Given the description of an element on the screen output the (x, y) to click on. 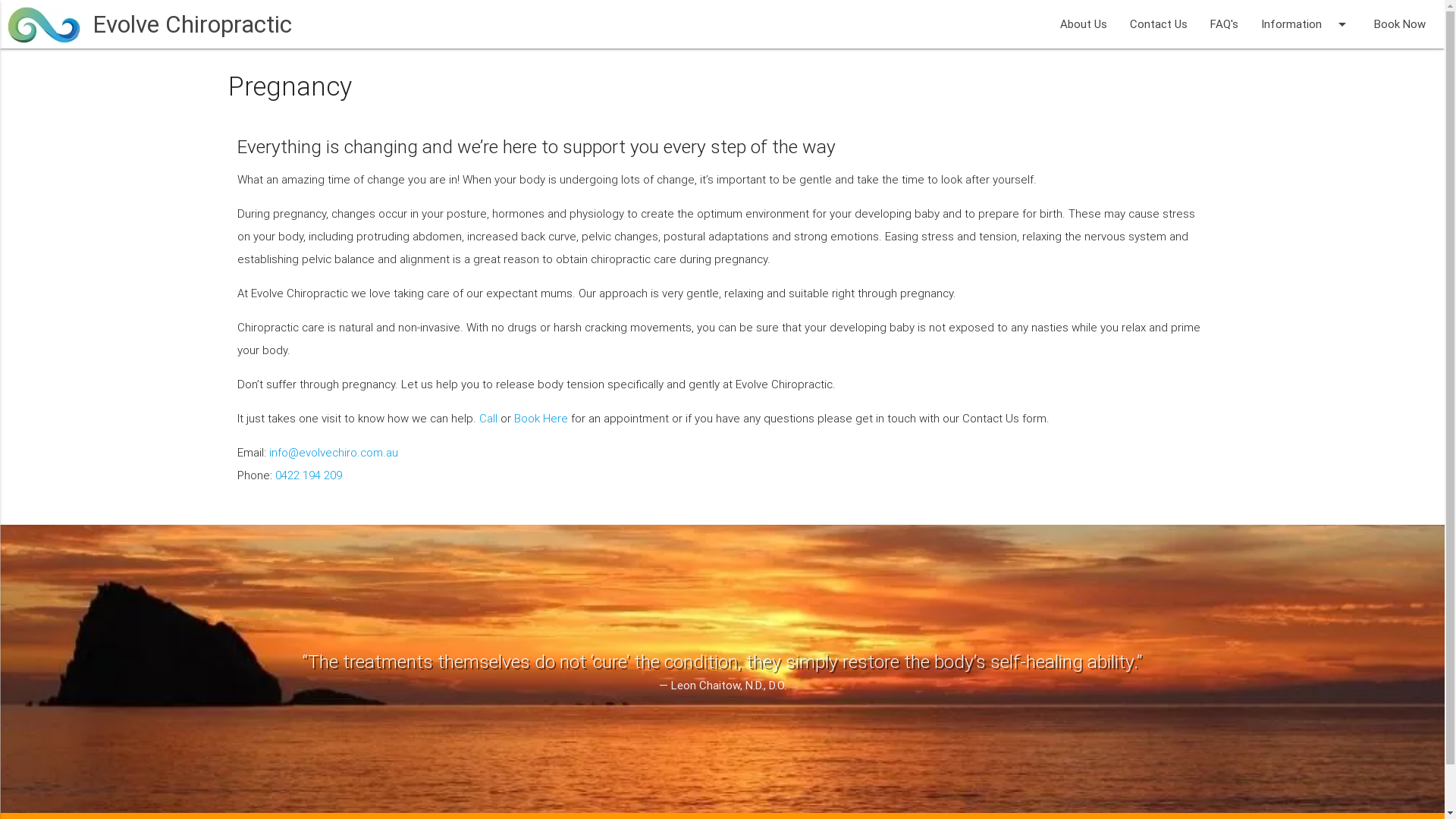
About Us Element type: text (1083, 24)
info@evolvechiro.com.au Element type: text (332, 452)
Information
arrow_drop_down Element type: text (1305, 24)
Contact Us Element type: text (1158, 24)
Book Here Element type: text (540, 418)
Book Now Element type: text (1399, 24)
Call Element type: text (488, 418)
FAQ's Element type: text (1223, 24)
0422 194 209 Element type: text (307, 474)
  Evolve Chiropractic Element type: text (185, 24)
